Given the description of an element on the screen output the (x, y) to click on. 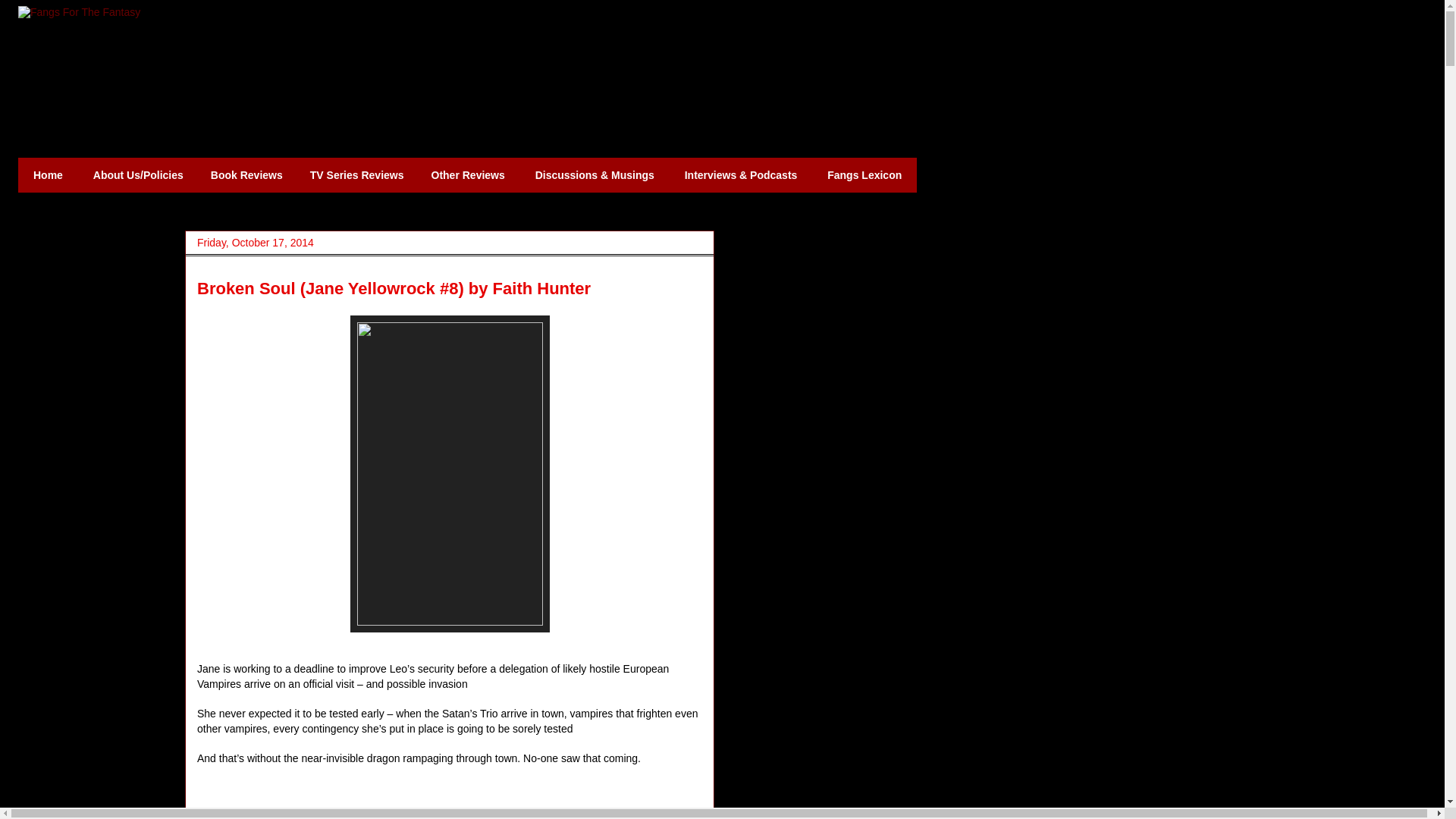
Home (47, 174)
Fangs Lexicon (864, 174)
